Given the description of an element on the screen output the (x, y) to click on. 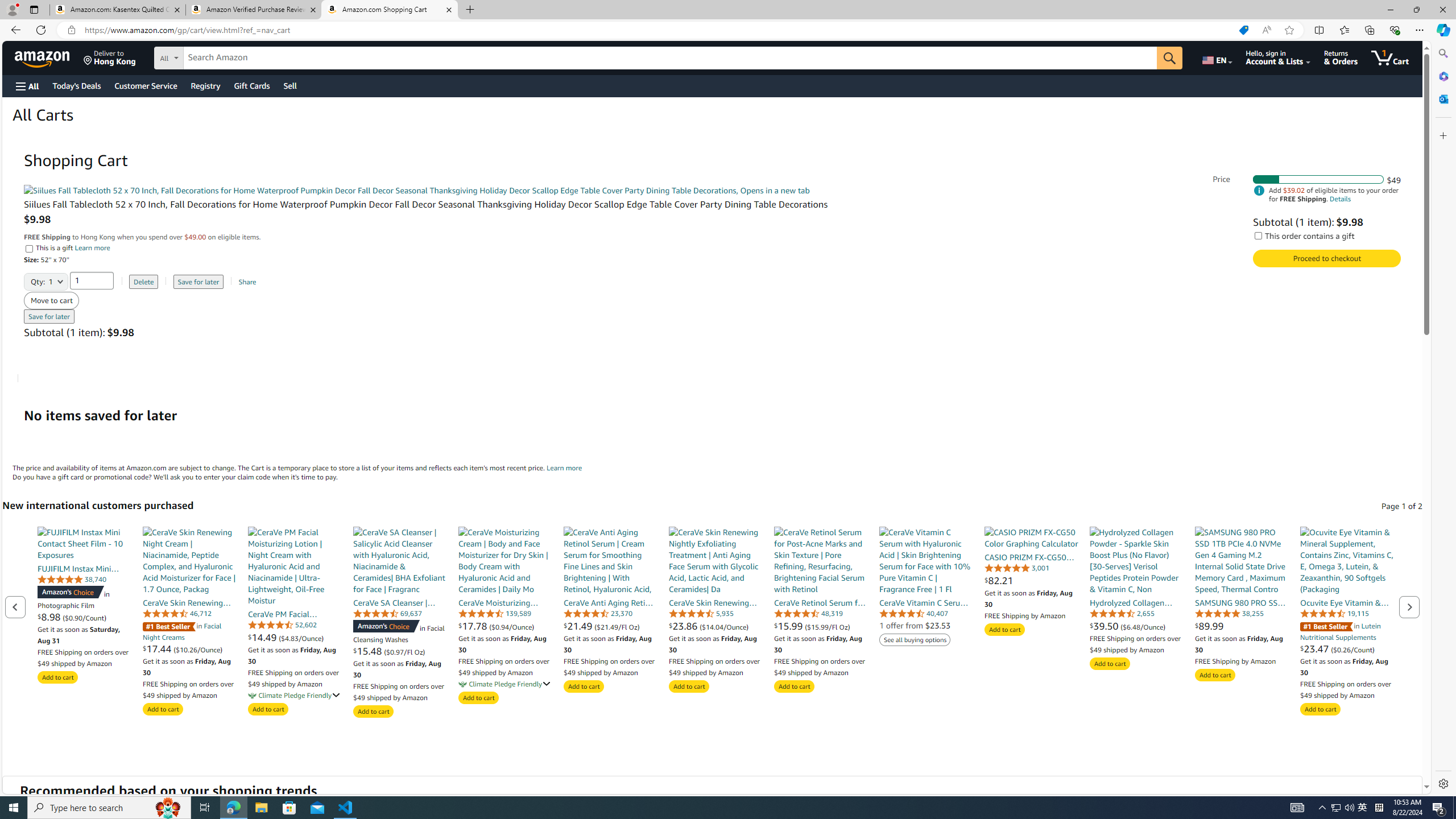
Class: a-link-normal (1346, 602)
Qty: Quantity (45, 277)
Hello, sign in Account & Lists (1278, 57)
